Given the description of an element on the screen output the (x, y) to click on. 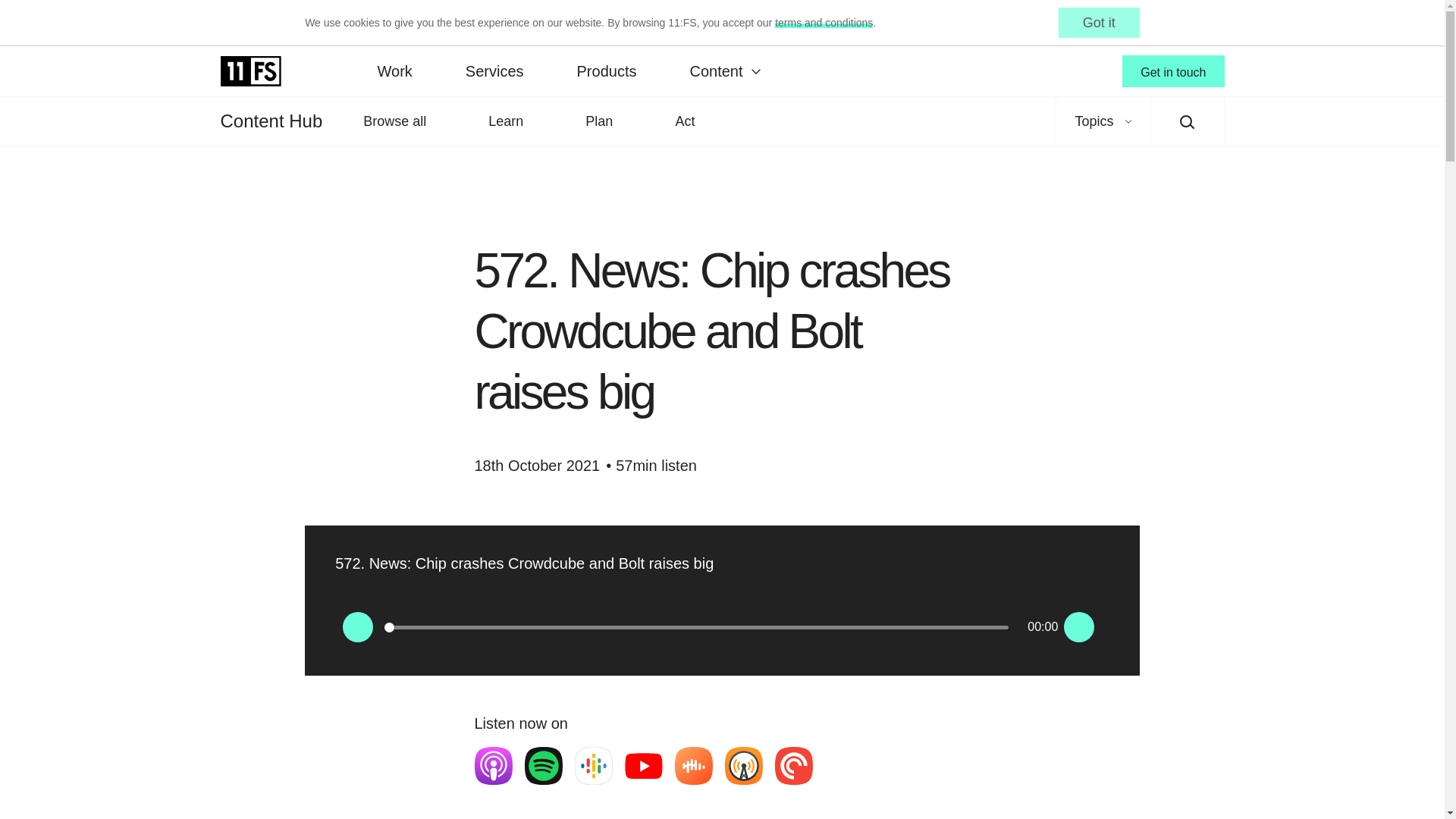
Content (723, 71)
11:FS (250, 71)
0 (696, 626)
terms and conditions (823, 22)
Listen to Fintech Insider on Apple Podcasts (493, 765)
Work (395, 71)
Got it (1099, 22)
Listen to Fintech Insider on Castbox (694, 765)
Products (606, 71)
Search (1187, 121)
